Given the description of an element on the screen output the (x, y) to click on. 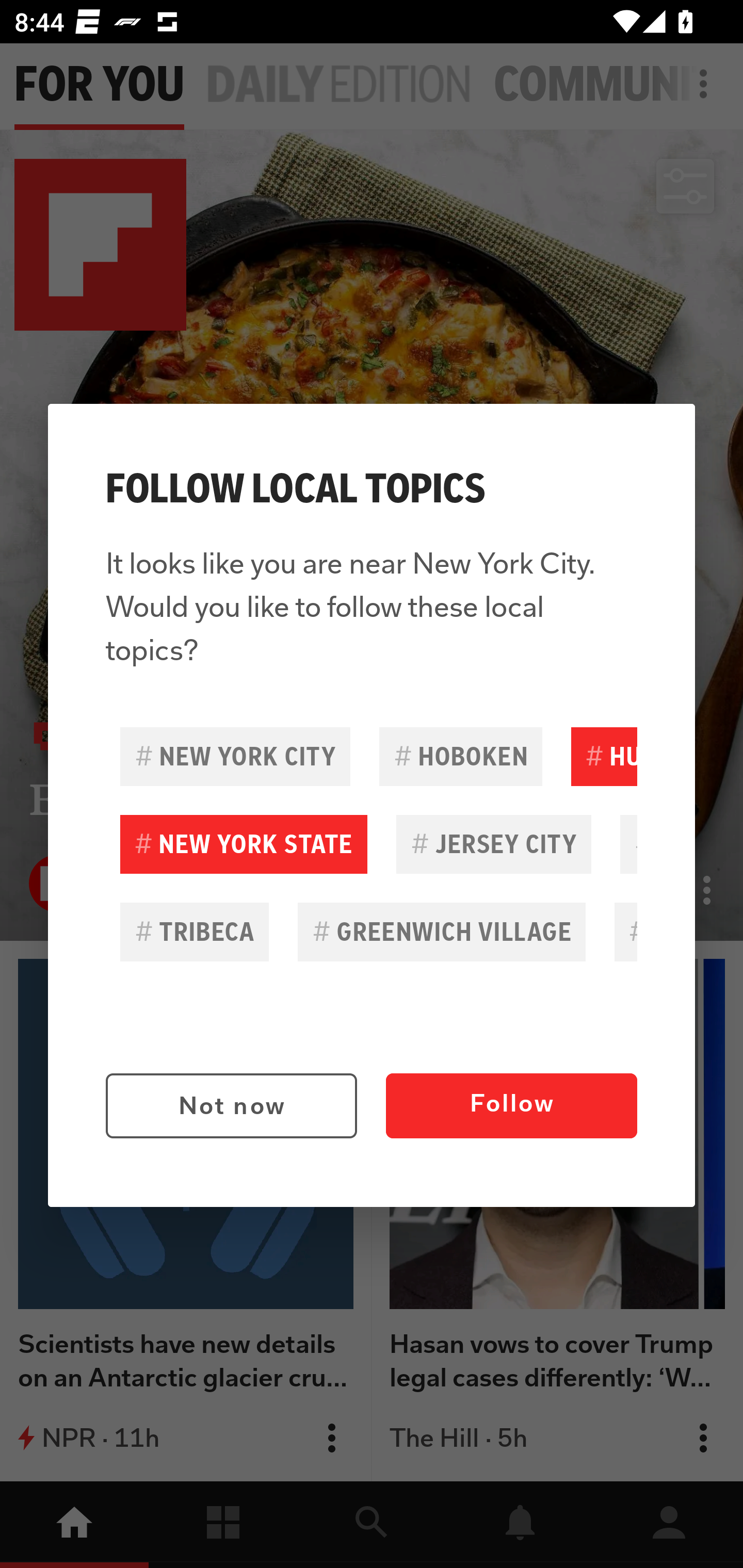
# NEW YORK CITY (235, 756)
# HOBOKEN (460, 756)
# NEW YORK STATE (243, 844)
# JERSEY CITY (493, 844)
# TRIBECA (194, 932)
# GREENWICH VILLAGE (441, 932)
Not now (231, 1106)
Follow (511, 1106)
